Given the description of an element on the screen output the (x, y) to click on. 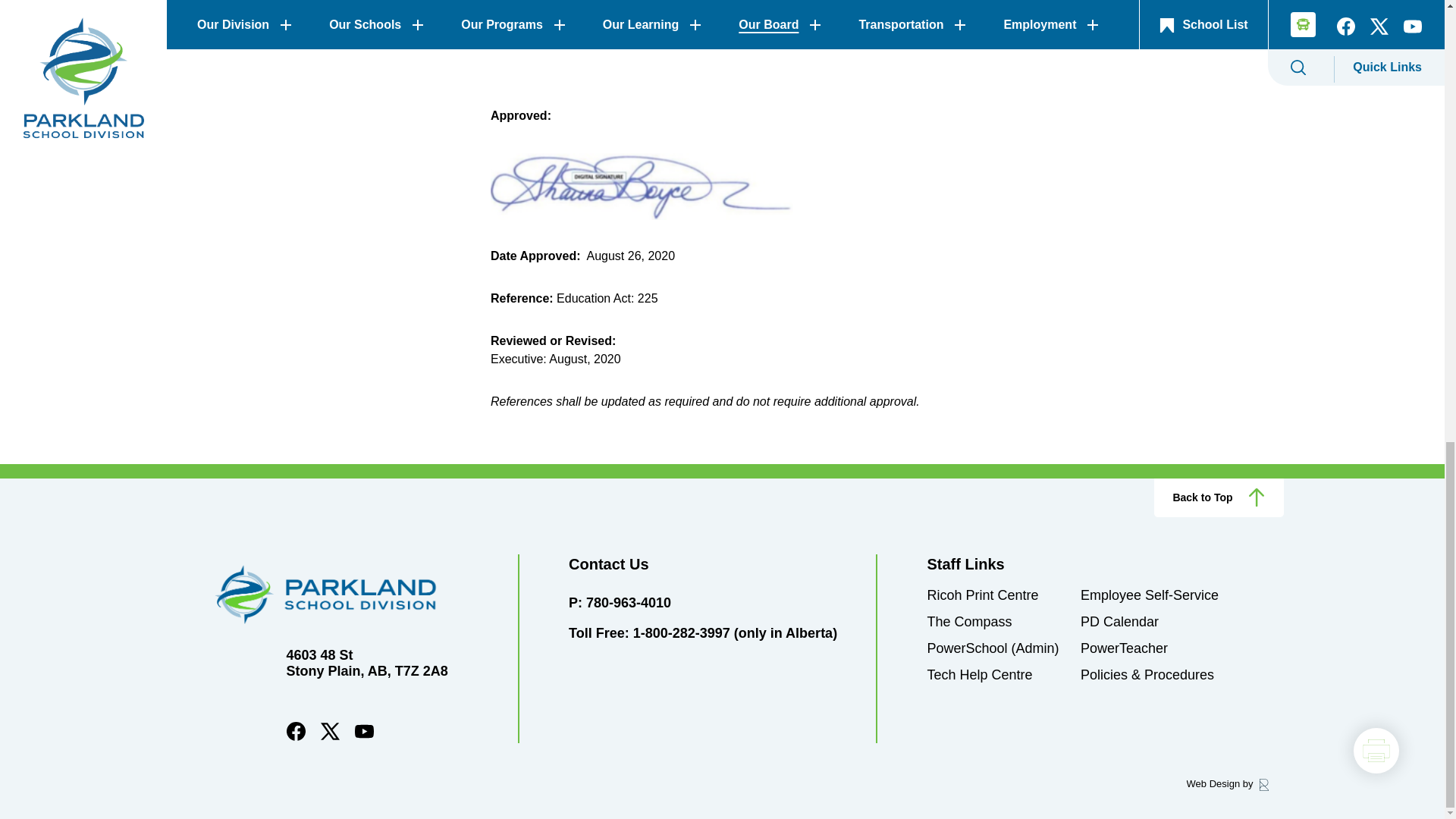
Ricoh Print Centre (982, 595)
Youtube (364, 737)
Parkland School Division (348, 595)
Employee Self-Service (1149, 595)
Facebook (296, 737)
Twitter (329, 737)
The Compass (968, 621)
